Given the description of an element on the screen output the (x, y) to click on. 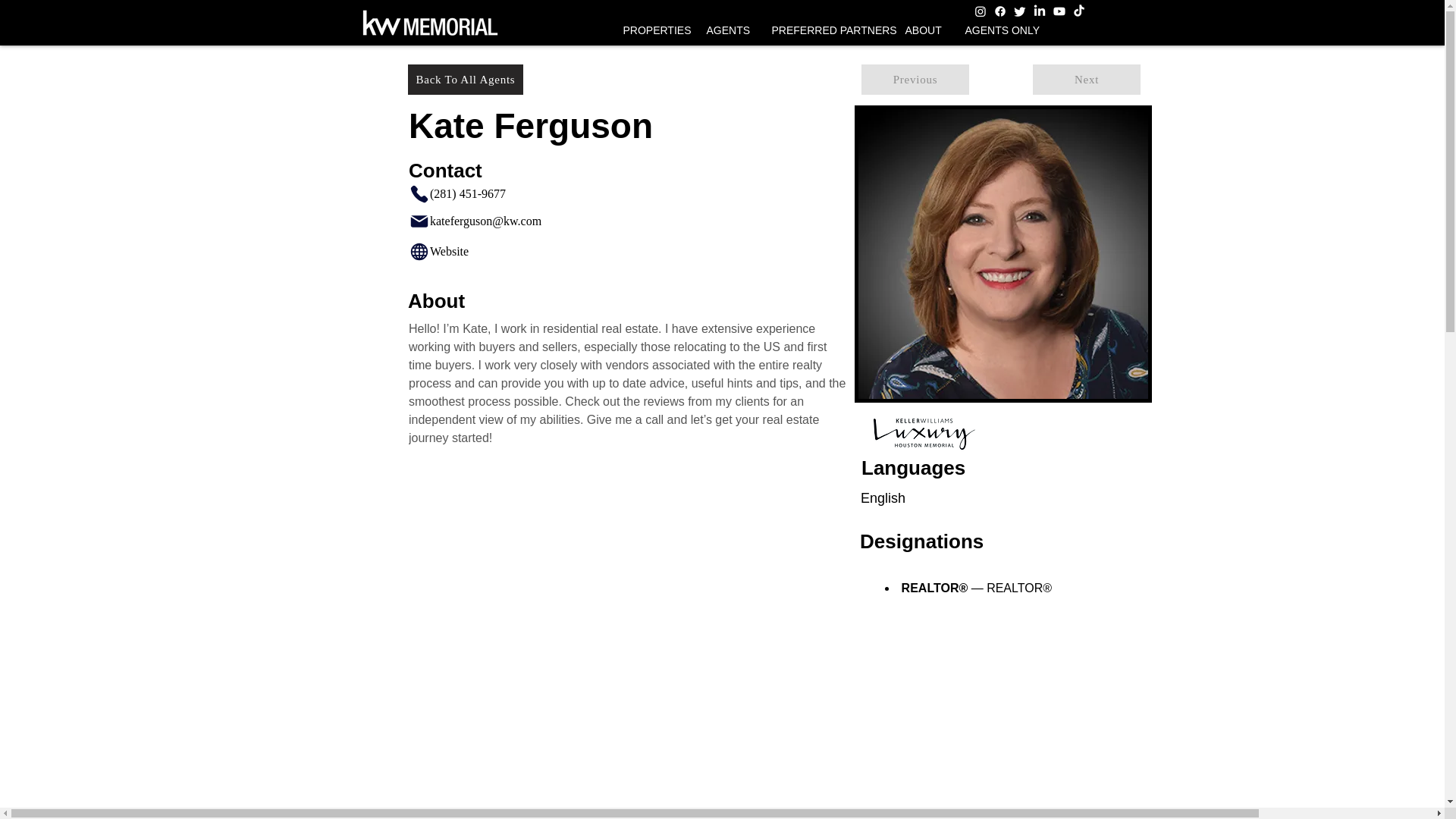
Back To All Agents (464, 79)
Previous (915, 79)
Website (488, 251)
KW Lux.png (924, 434)
Ferguson.jpg (1002, 253)
AGENTS ONLY (1001, 30)
Next (1086, 79)
